Given the description of an element on the screen output the (x, y) to click on. 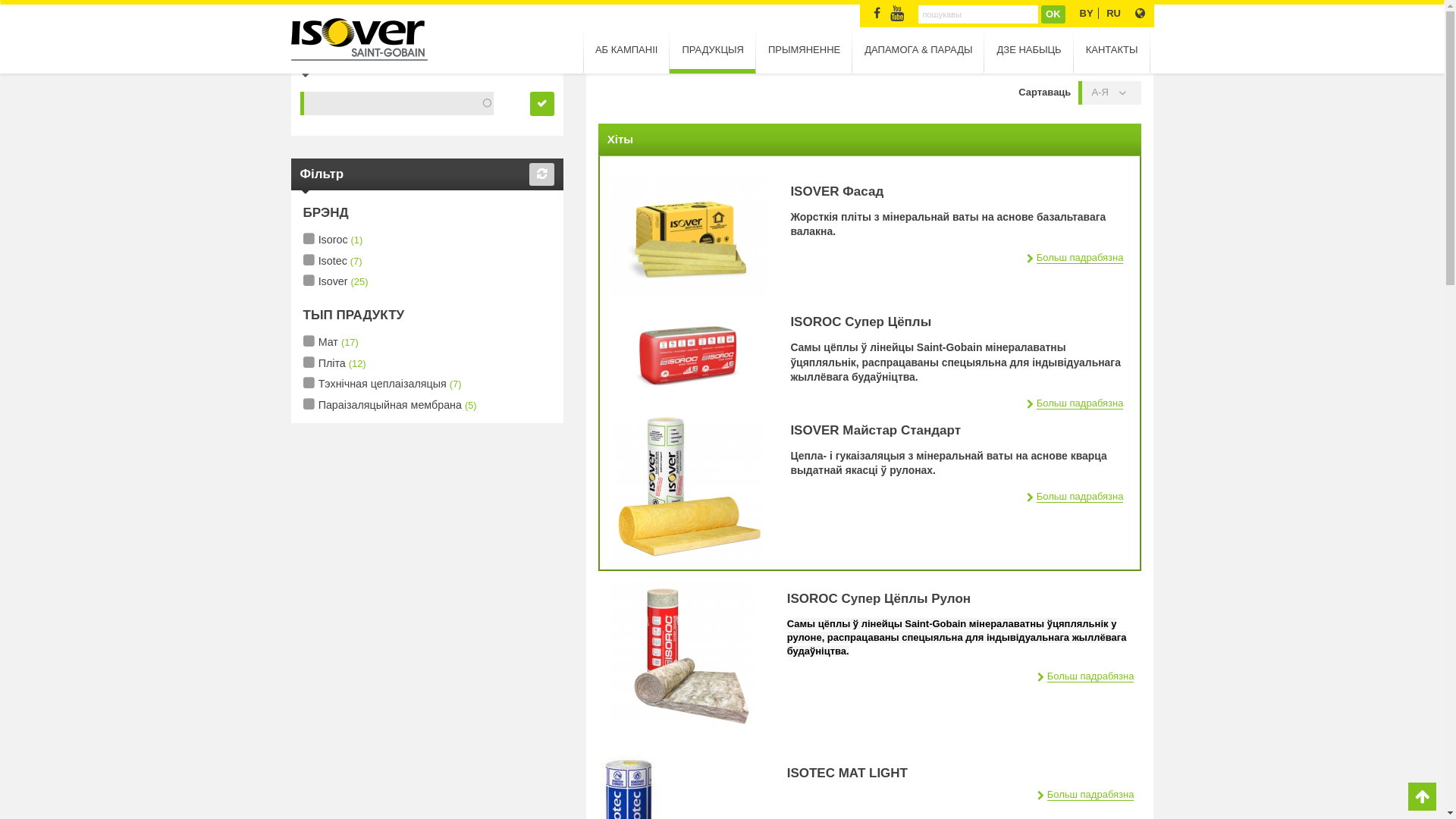
Isover (25) Element type: text (335, 281)
countries Element type: hover (1139, 13)
RU Element type: text (1113, 12)
BY Element type: text (1086, 12)
Skip to main content Element type: text (44, 0)
Facebook Element type: hover (877, 13)
YouTube Element type: hover (897, 15)
Isotec (7) Element type: text (332, 261)
Apply Element type: hover (542, 103)
Isoroc (1) Element type: text (333, 240)
ISOTEC MAT LIGHT Element type: text (847, 772)
Ok Element type: text (1053, 14)
HOME Element type: text (306, 14)
BACK TO TOP Element type: text (1422, 796)
Submit Element type: text (28, 11)
